Given the description of an element on the screen output the (x, y) to click on. 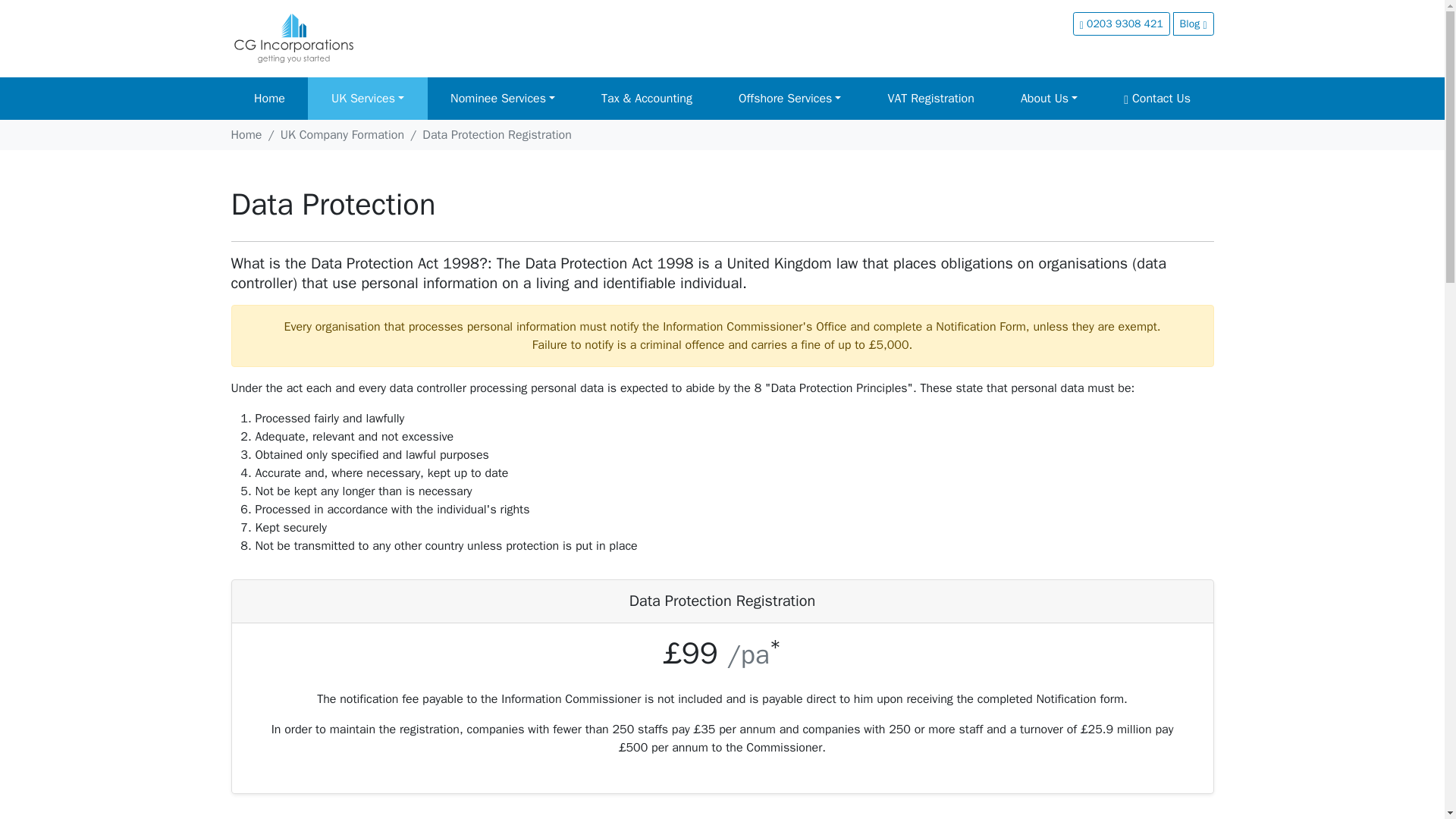
Nominee Services (503, 97)
Home (246, 134)
UK Company Formation (342, 134)
UK Services (366, 97)
About Us (1048, 97)
Home (268, 97)
Data Protection (332, 204)
VAT Registration (930, 97)
Blog (1193, 24)
Contact Us (1157, 97)
